Given the description of an element on the screen output the (x, y) to click on. 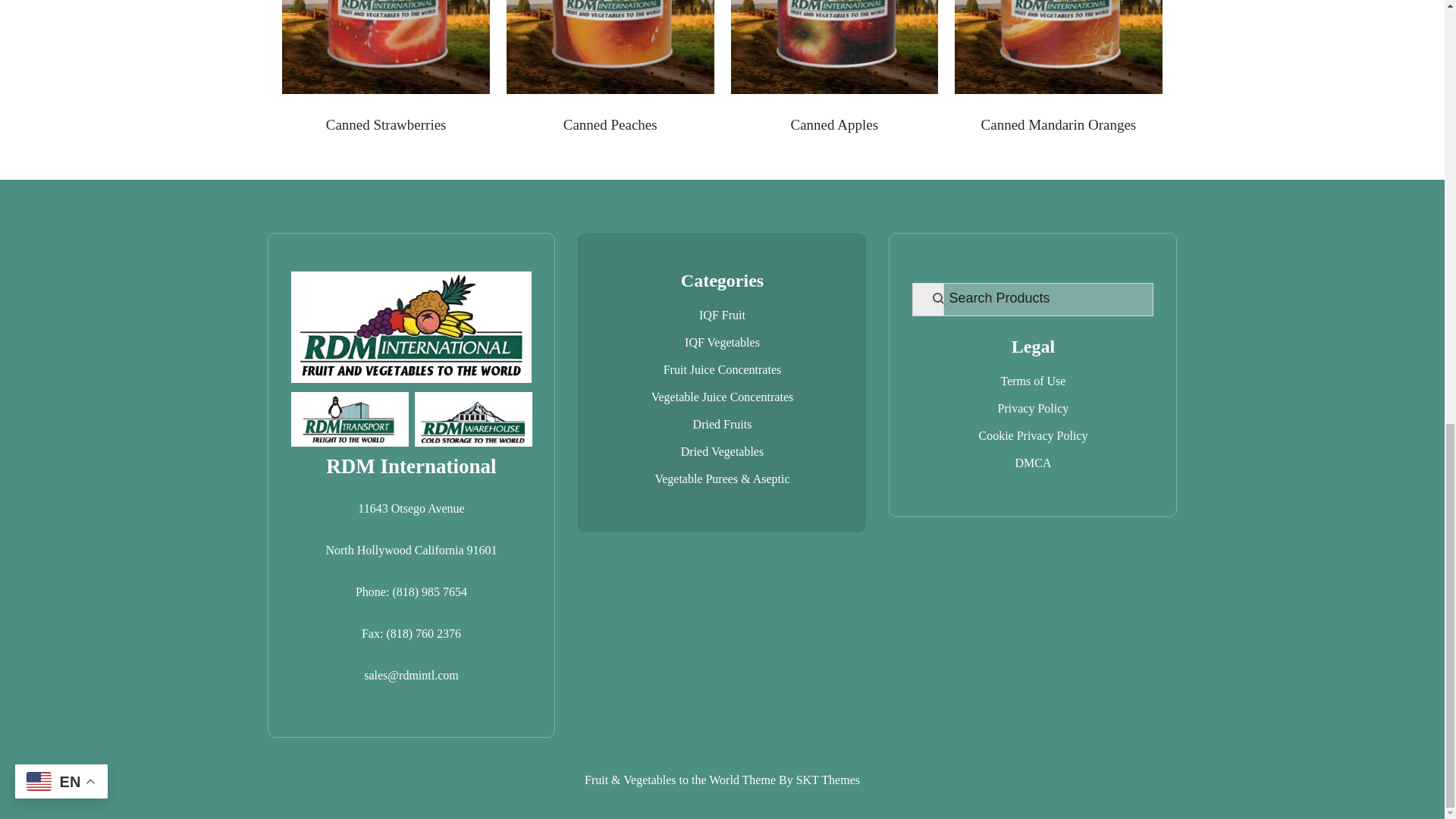
Canned Strawberries (385, 68)
Canned Apples (834, 68)
Canned Peaches (610, 68)
Canned Mandarin Oranges (1058, 68)
